Given the description of an element on the screen output the (x, y) to click on. 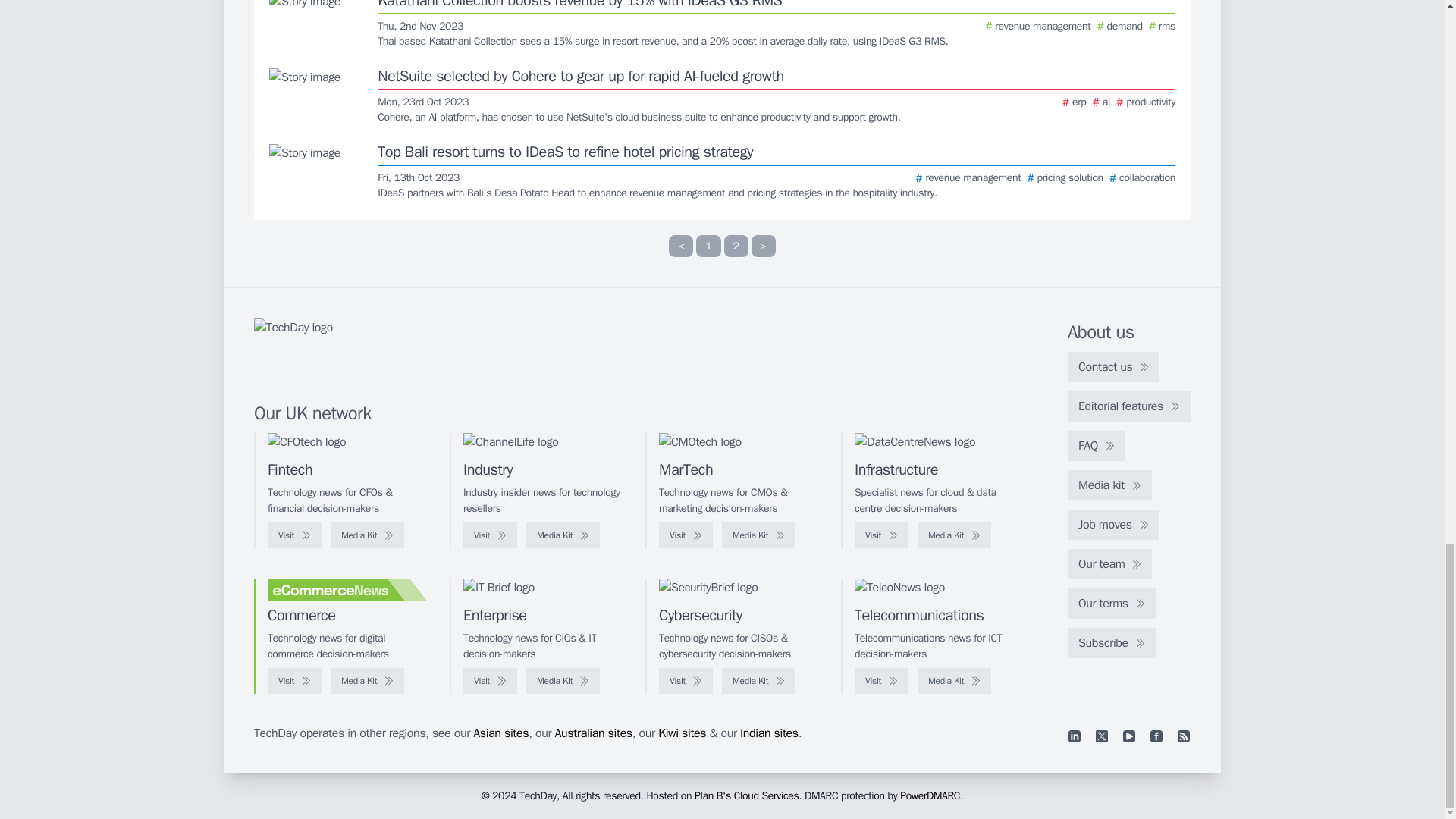
Media Kit (367, 534)
Visit (489, 534)
2 (735, 246)
1 (707, 246)
Media Kit (562, 534)
Visit (294, 534)
